Given the description of an element on the screen output the (x, y) to click on. 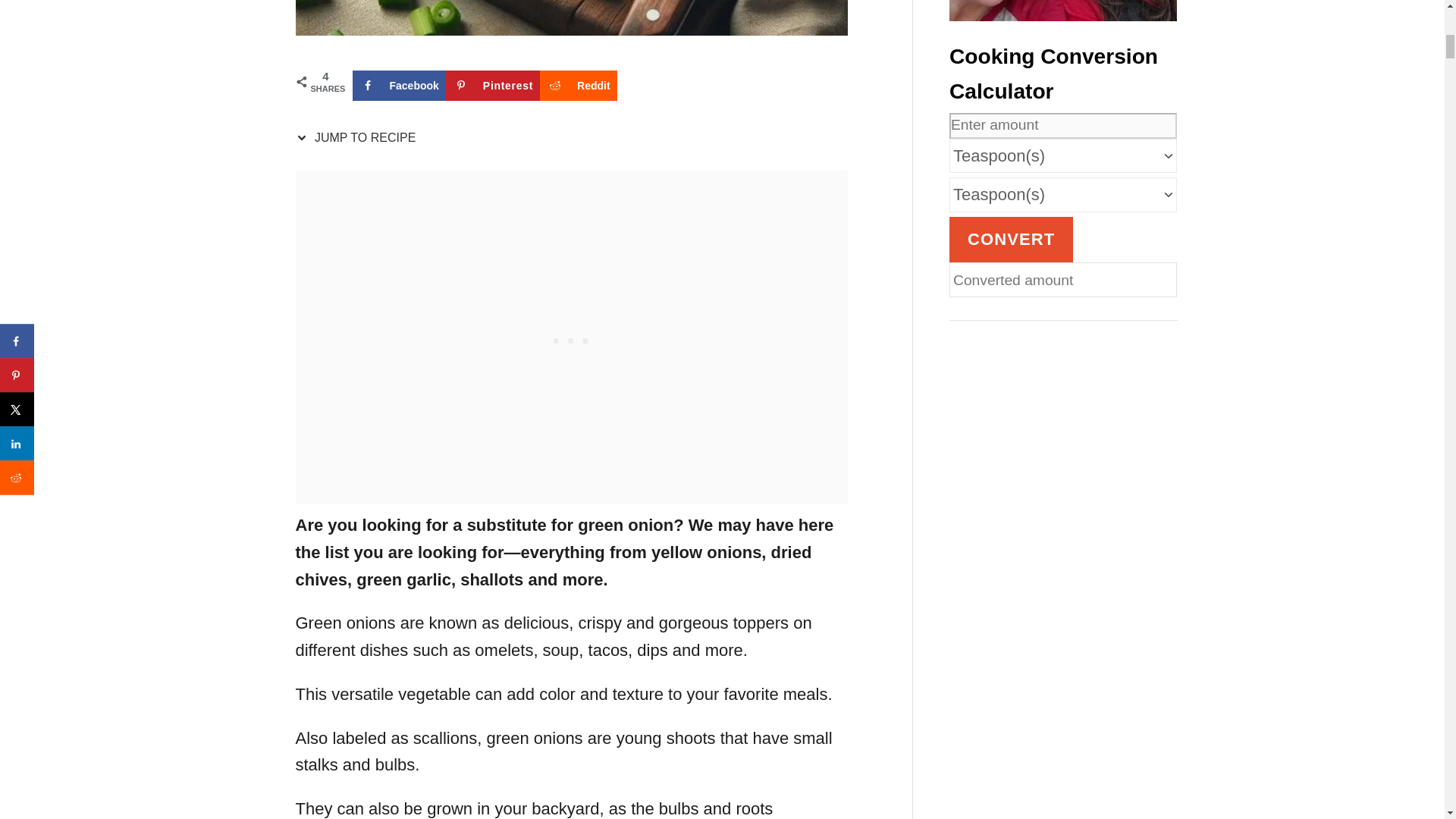
Share on Reddit (578, 85)
Save to Pinterest (492, 85)
Share on Facebook (398, 85)
